Given the description of an element on the screen output the (x, y) to click on. 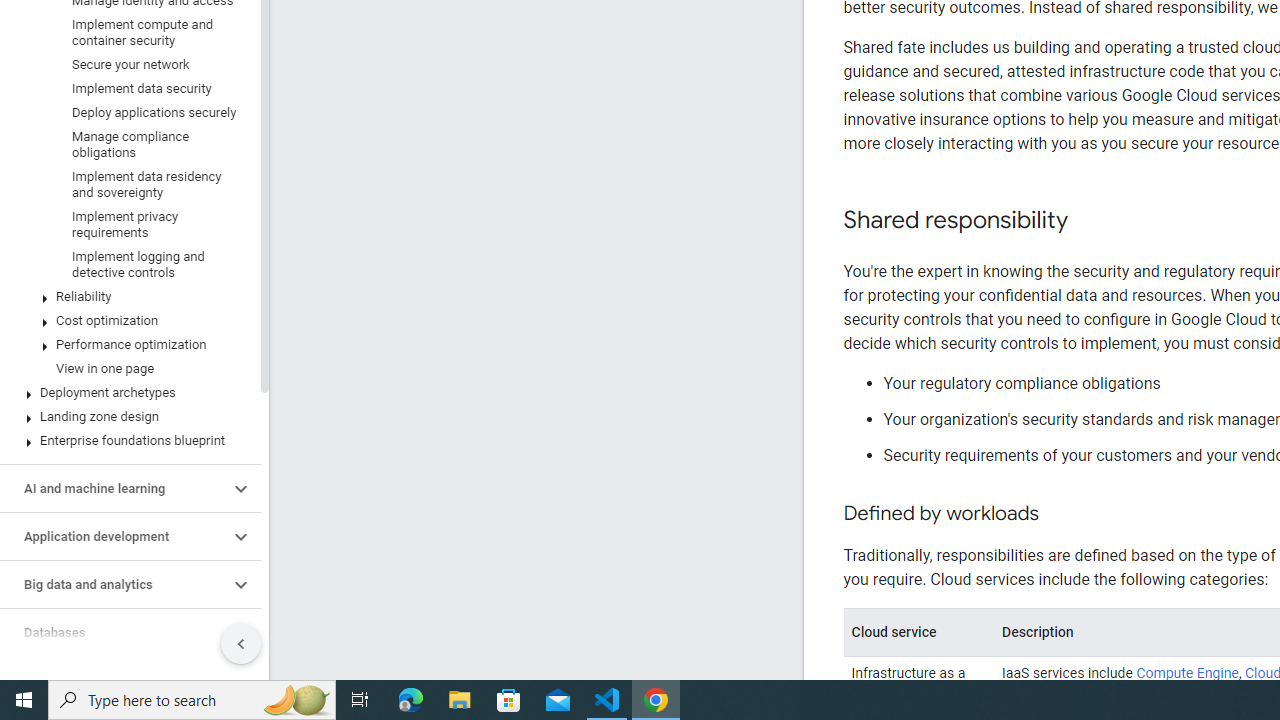
Hide side navigation (241, 643)
Performance optimization (126, 344)
Hybrid and multicloud (114, 680)
Landing zone design (126, 416)
Implement logging and detective controls (126, 264)
Deploy applications securely (126, 112)
Reliability (126, 296)
Enterprise foundations blueprint (126, 440)
Copy link to this section: Shared responsibility (1087, 221)
View in one page (126, 368)
Implement compute and container security (126, 32)
Copy link to this section: Defined by workloads (1058, 514)
Implement privacy requirements (126, 224)
Implement data security (126, 88)
